Given the description of an element on the screen output the (x, y) to click on. 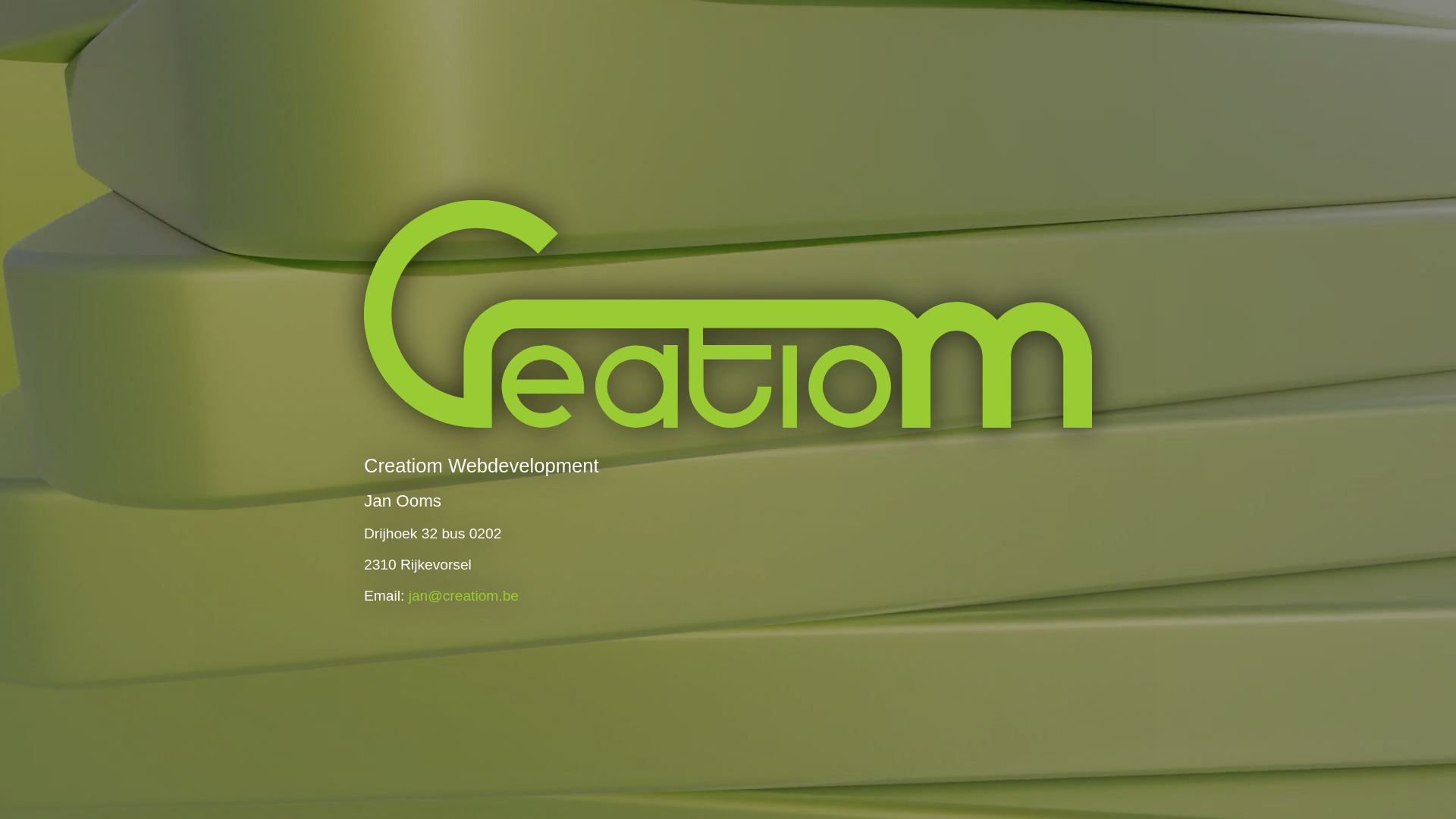
jan@creatiom.be Element type: text (463, 595)
